Given the description of an element on the screen output the (x, y) to click on. 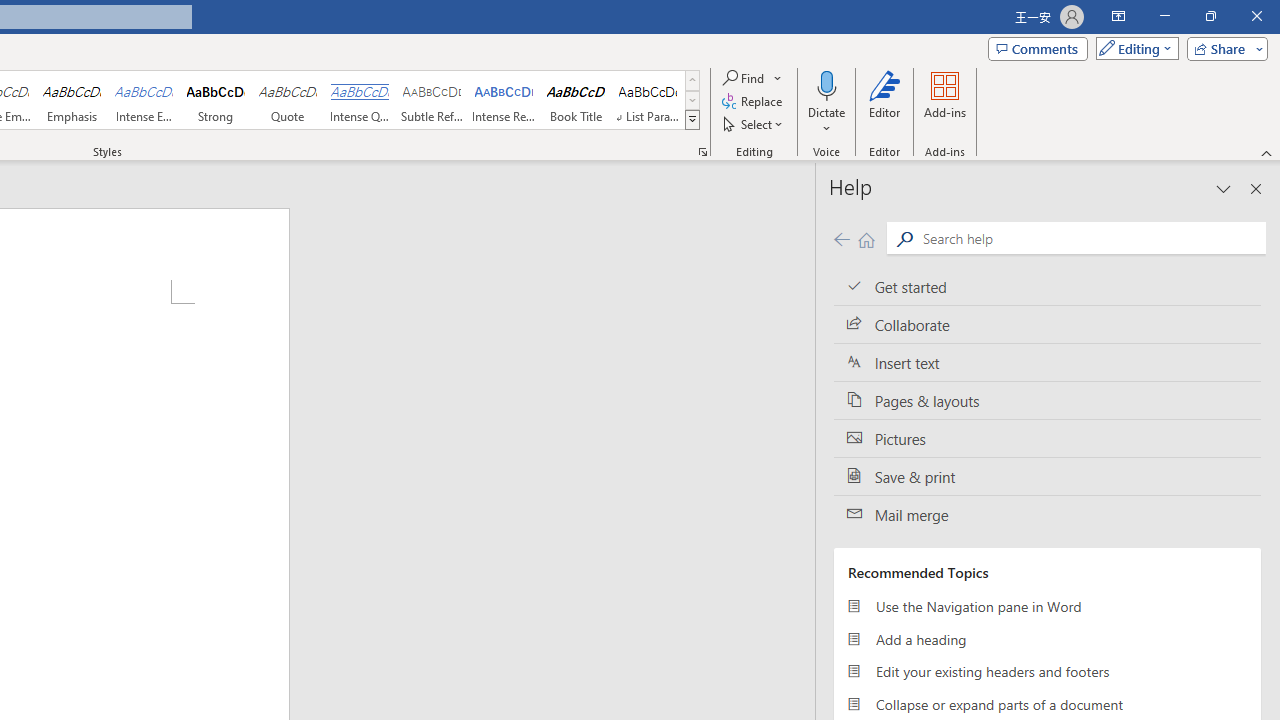
Row Down (692, 100)
Intense Emphasis (143, 100)
Styles... (702, 151)
More Options (826, 121)
Find (753, 78)
Dictate (826, 84)
Find (744, 78)
Collapse the Ribbon (1267, 152)
Insert text (1047, 363)
Home (866, 238)
Get started (1047, 286)
Save & print (1047, 476)
Task Pane Options (1224, 188)
Comments (1038, 48)
